Given the description of an element on the screen output the (x, y) to click on. 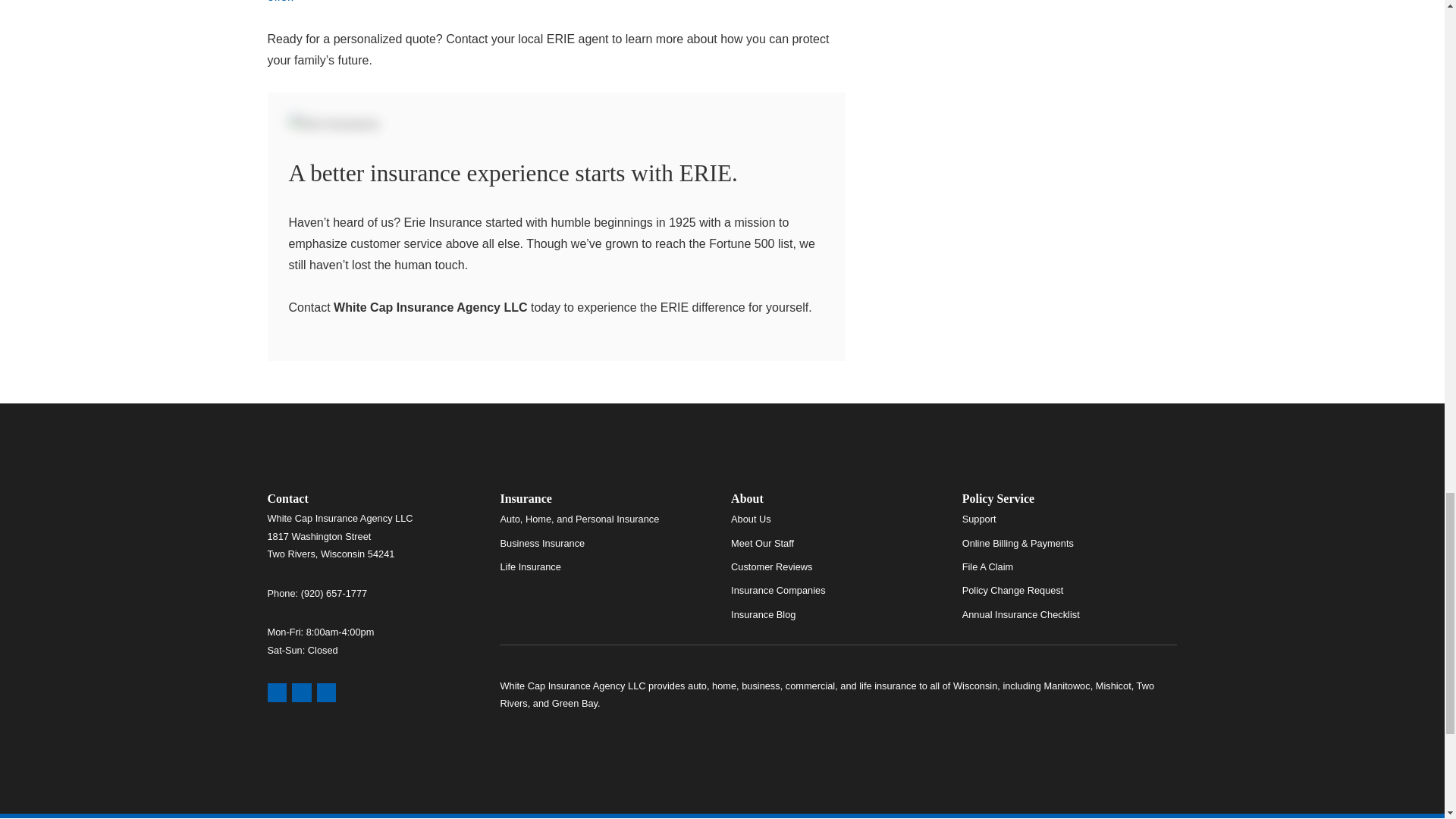
Facebook (326, 692)
Yelp (301, 692)
Google Maps (276, 692)
